Given the description of an element on the screen output the (x, y) to click on. 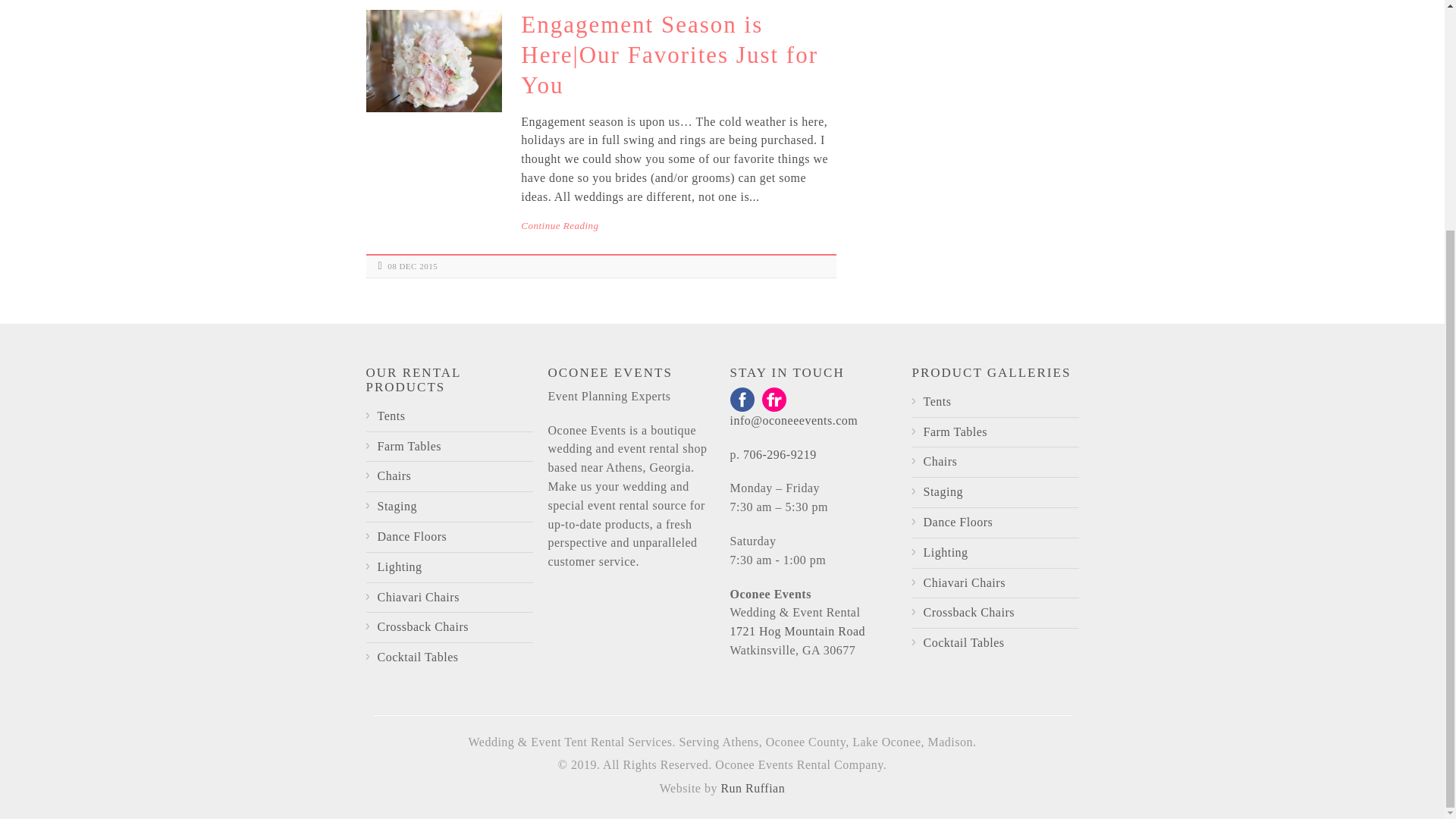
08 DEC 2015 (412, 266)
Continue Reading (678, 225)
